Given the description of an element on the screen output the (x, y) to click on. 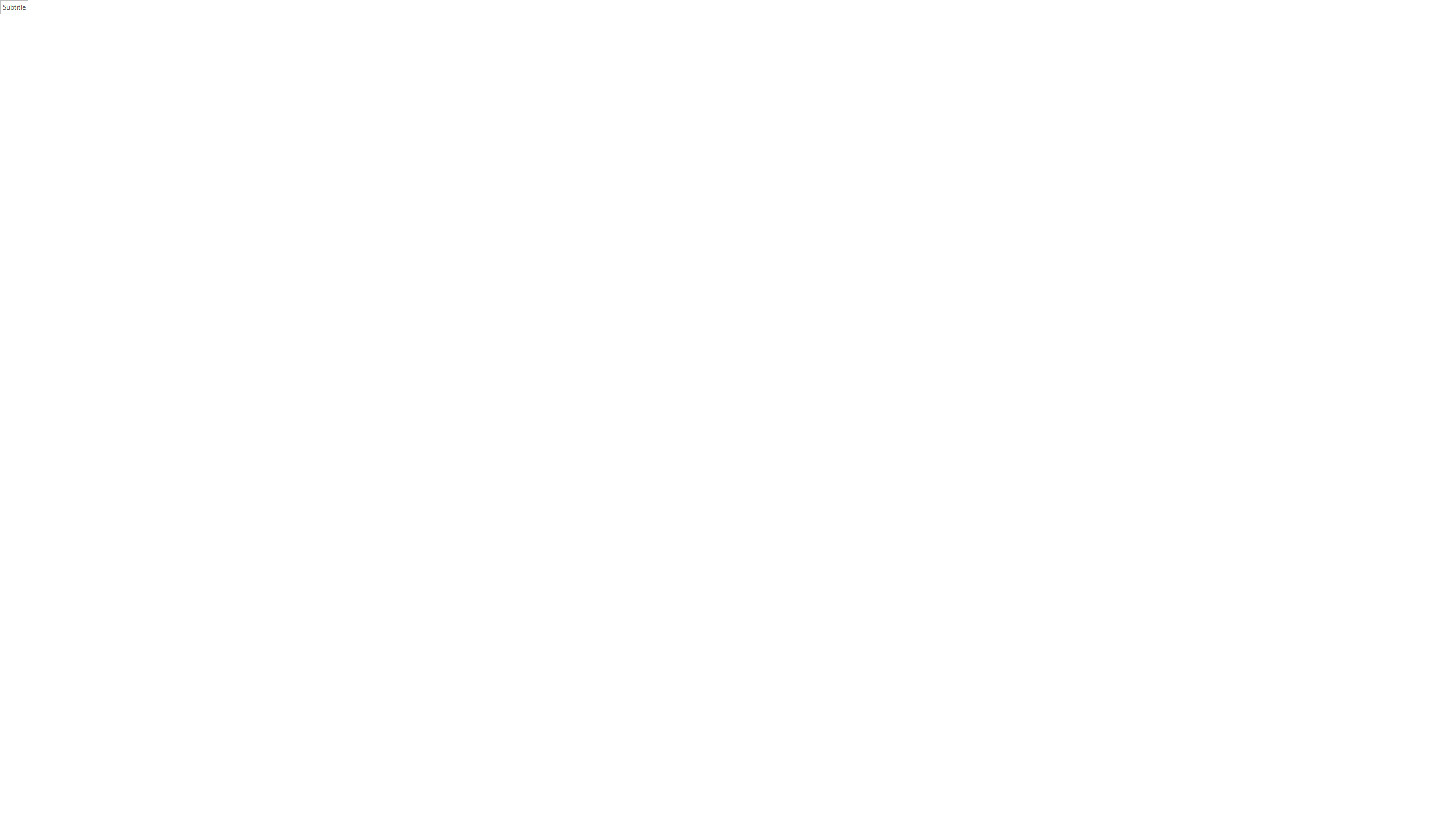
Bold (104, 67)
Quote (891, 56)
Search document (66, 128)
Phonetic Guide... (264, 49)
Italic (118, 67)
Format Painter (58, 72)
Class: NetUIScrollBar (1450, 437)
